Given the description of an element on the screen output the (x, y) to click on. 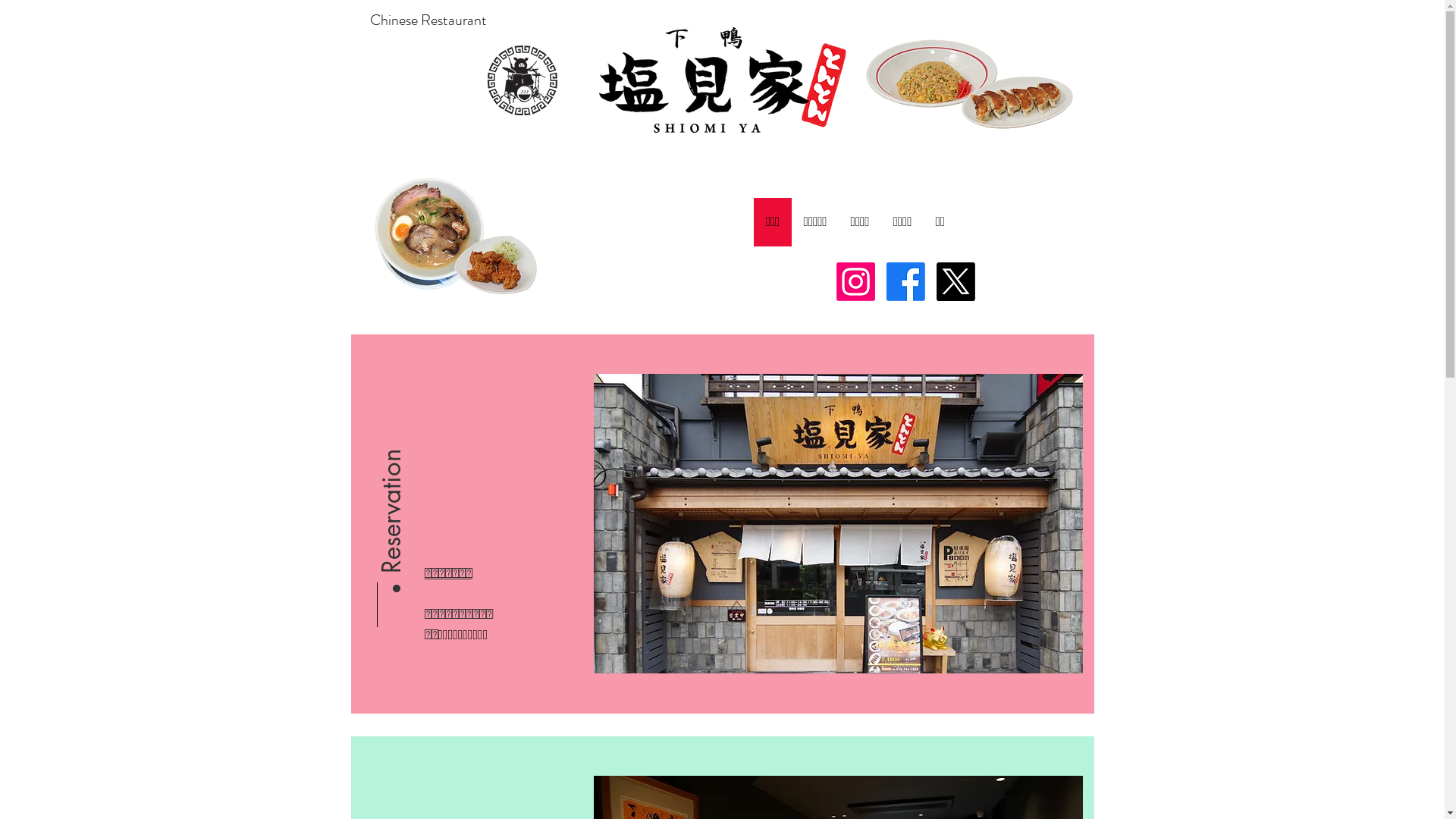
Reservation Element type: text (467, 401)
